Given the description of an element on the screen output the (x, y) to click on. 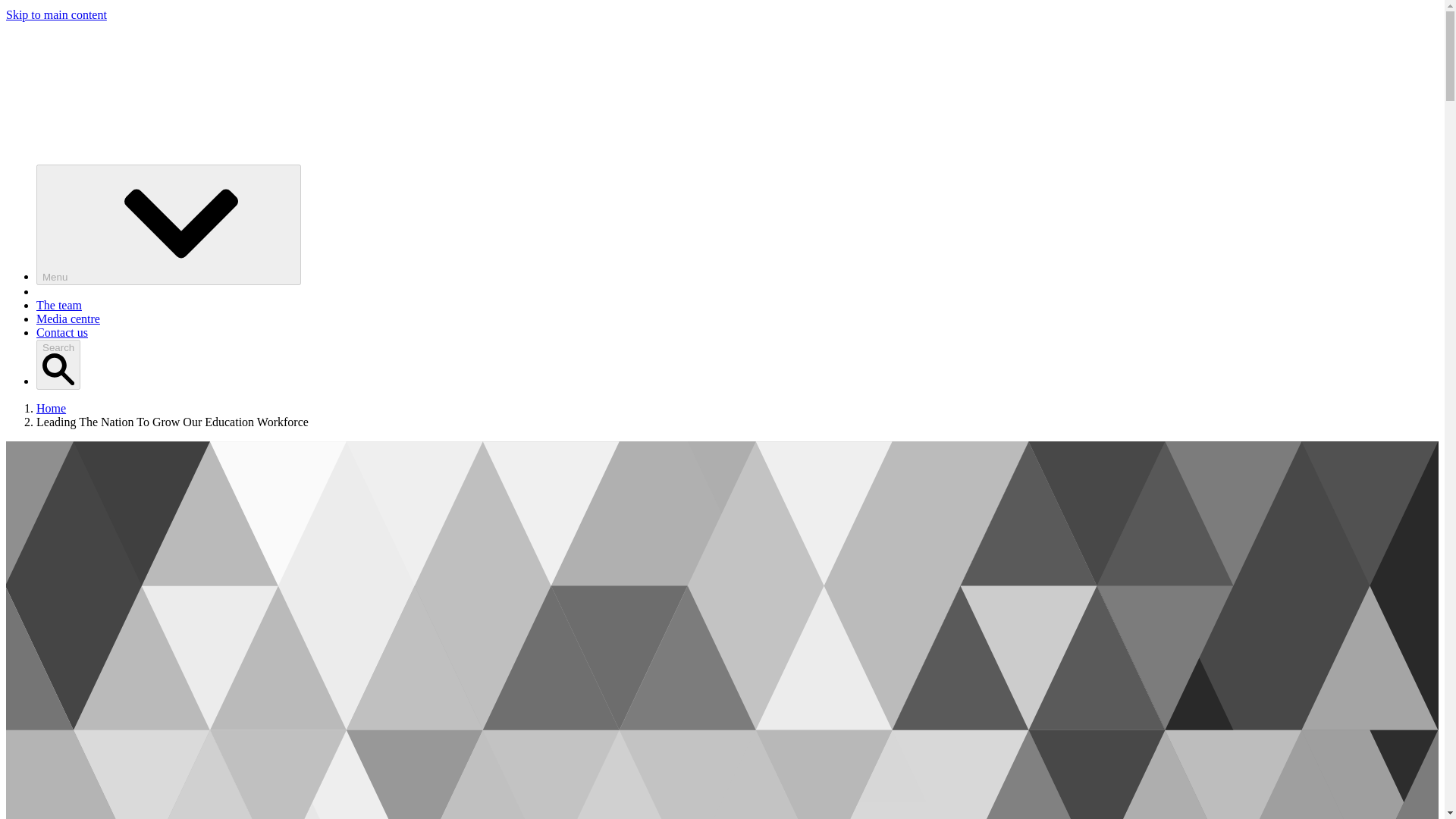
Skip to main content (55, 14)
Media centre (68, 318)
Home (50, 408)
The team (58, 305)
Contact us (61, 332)
